Given the description of an element on the screen output the (x, y) to click on. 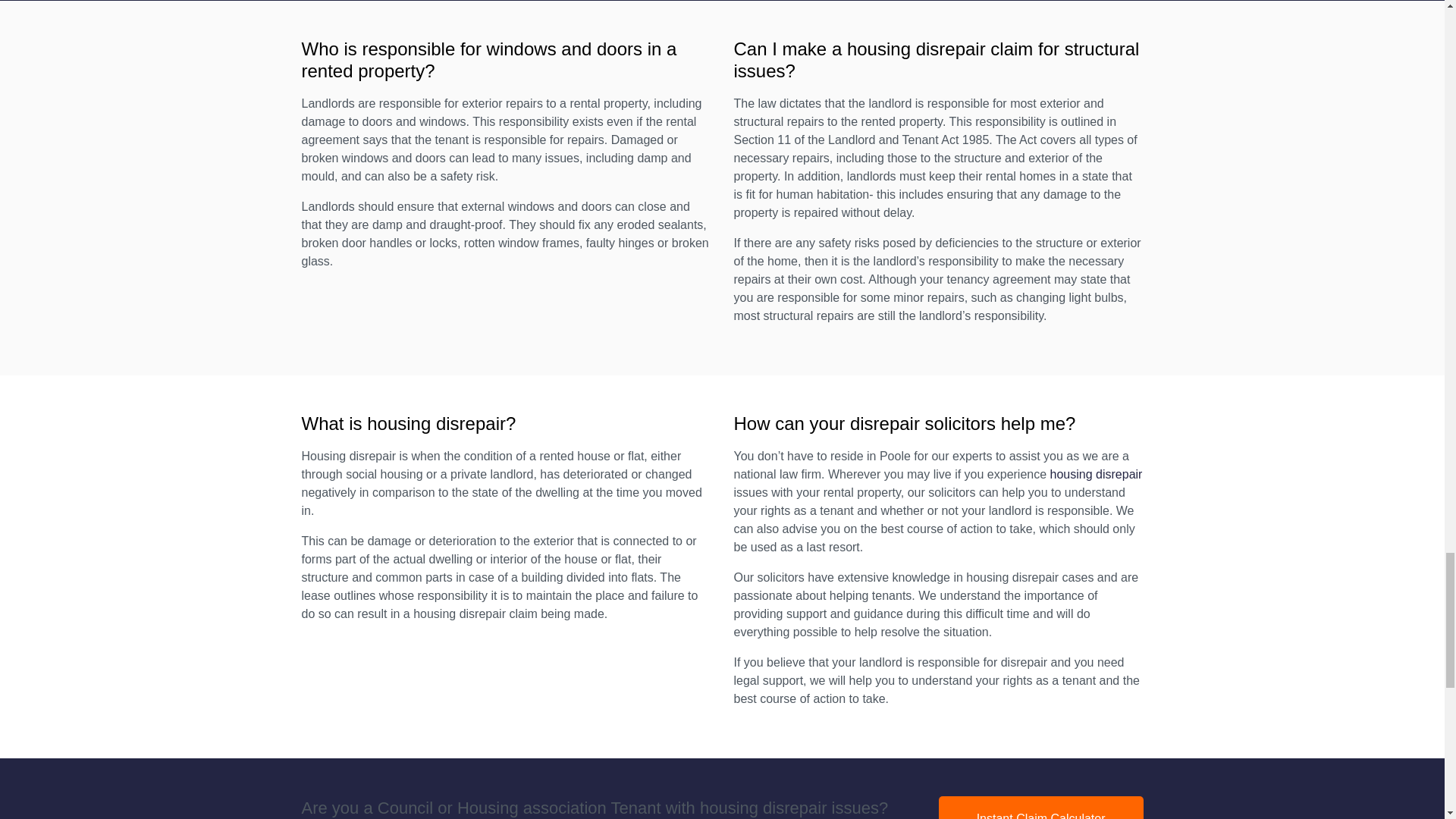
housing disrepair (1095, 473)
Instant Claim Calculator (1040, 807)
